Given the description of an element on the screen output the (x, y) to click on. 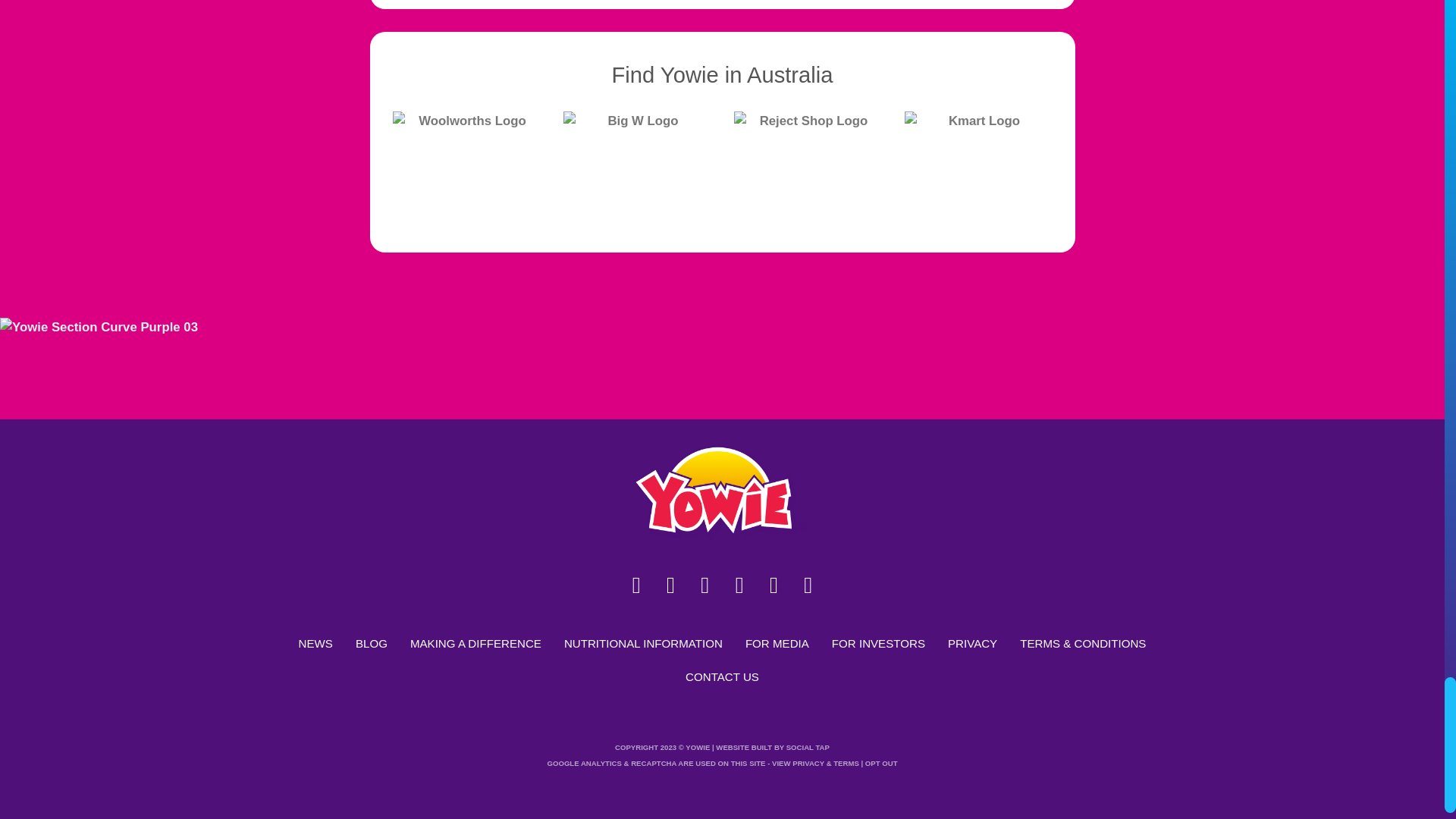
Follow on YouTube (807, 584)
Follow on Facebook (635, 584)
Follow on TikTok (705, 584)
Follow on Pinterest (772, 584)
Follow on Instagram (670, 584)
Follow on Twitter (739, 584)
